Given the description of an element on the screen output the (x, y) to click on. 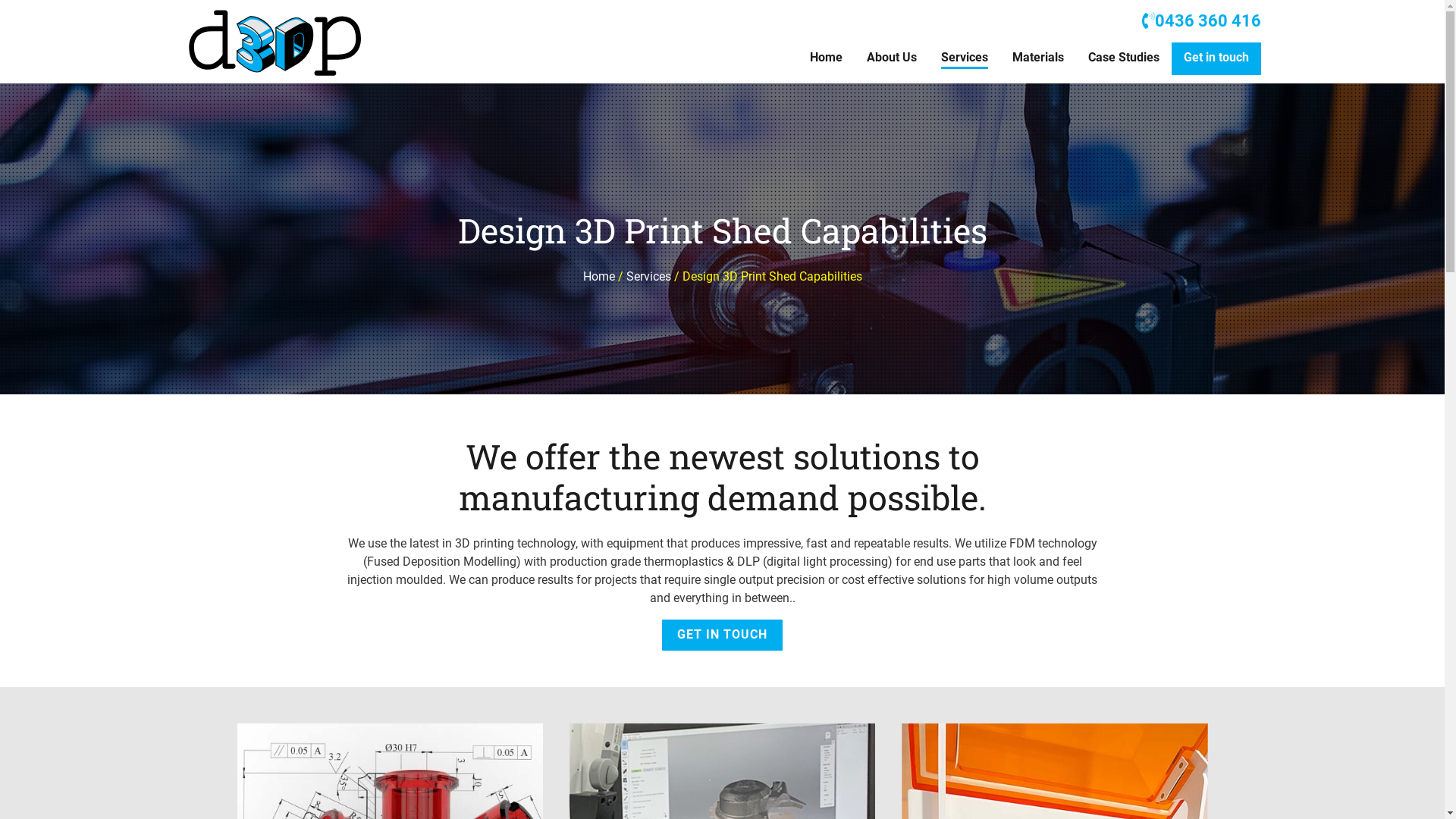
Case Studies Element type: text (1122, 58)
GET IN TOUCH Element type: text (722, 635)
Home Element type: text (825, 58)
Services Element type: text (963, 58)
About Us Element type: text (891, 58)
Get in touch Element type: text (1215, 58)
0436 360 416 Element type: text (1201, 20)
Design 3D Print Shed Element type: hover (275, 43)
Materials Element type: text (1037, 58)
Services Element type: text (648, 275)
Home Element type: text (598, 275)
